Given the description of an element on the screen output the (x, y) to click on. 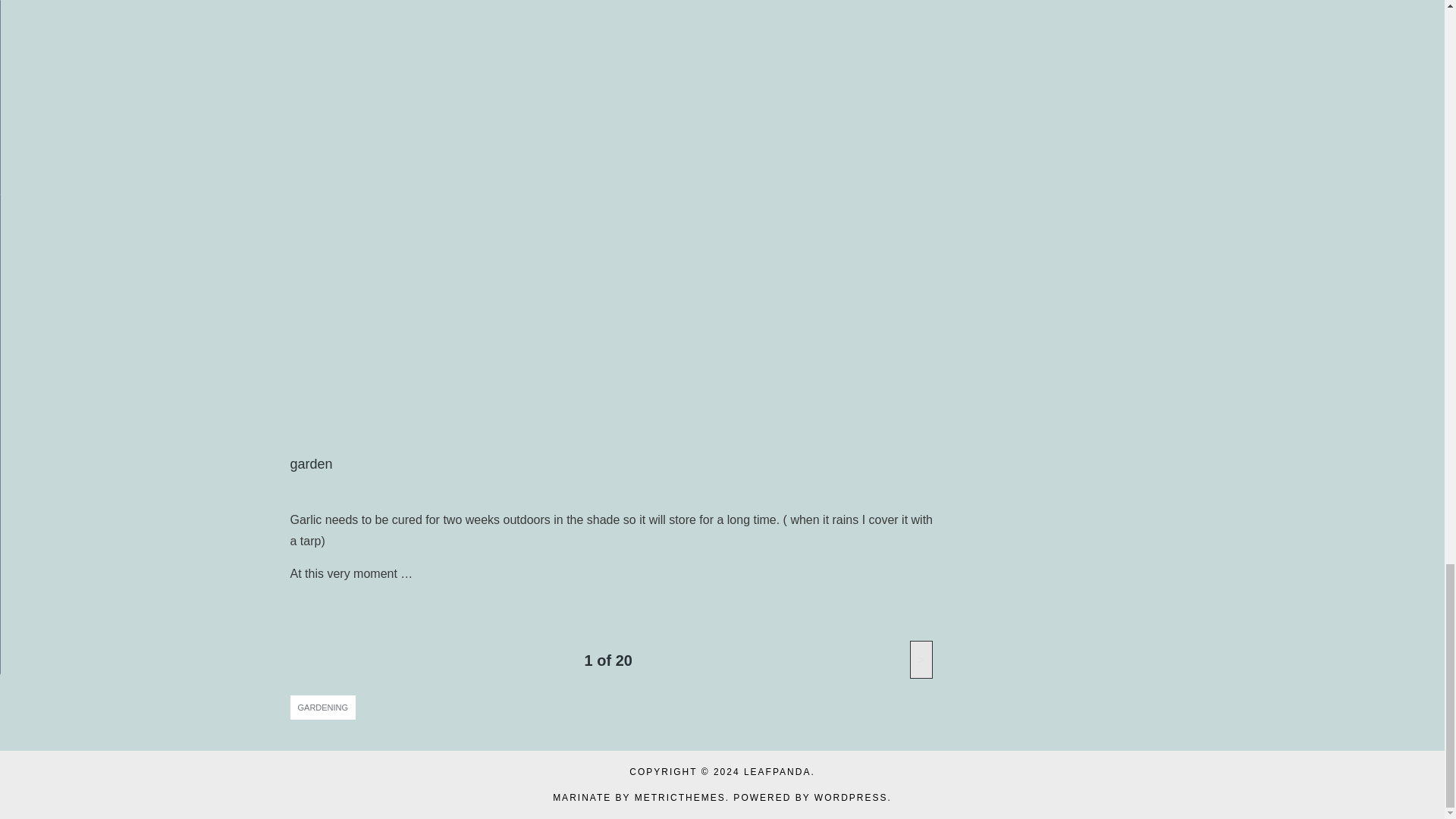
MARINATE BY METRICTHEMES (639, 797)
GARDENING (322, 706)
LEAFPANDA (777, 771)
WORDPRESS (850, 797)
